Given the description of an element on the screen output the (x, y) to click on. 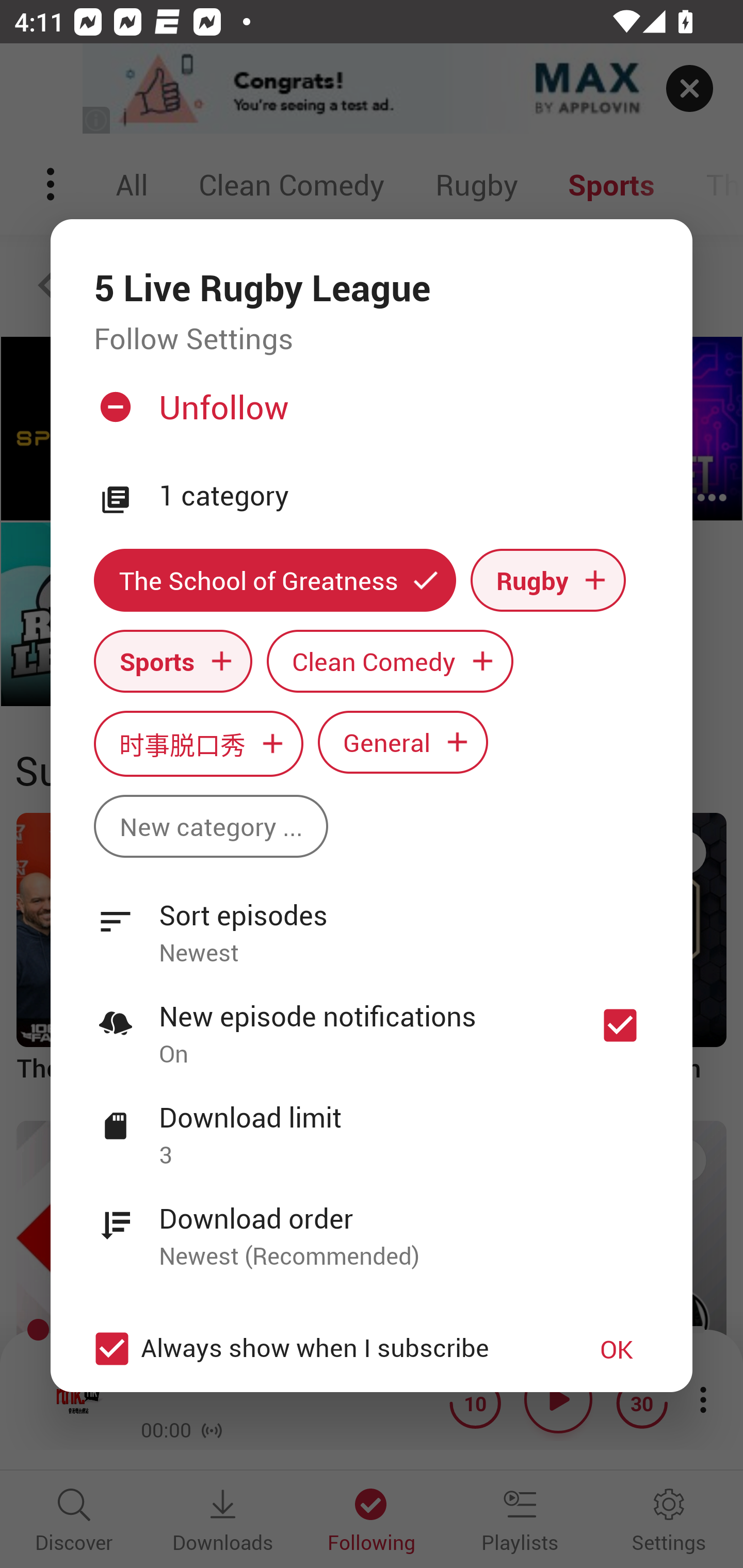
Unfollow (369, 415)
1 category (404, 495)
The School of Greatness (274, 579)
Rugby (547, 579)
Sports (172, 661)
Clean Comedy (389, 661)
时事脱口秀 (198, 743)
General (403, 741)
New category ... (210, 825)
Sort episodes Newest (371, 922)
New episode notifications (620, 1025)
Download limit 3 (371, 1125)
Download order Newest (Recommended) (371, 1226)
OK (616, 1349)
Always show when I subscribe (320, 1349)
